Given the description of an element on the screen output the (x, y) to click on. 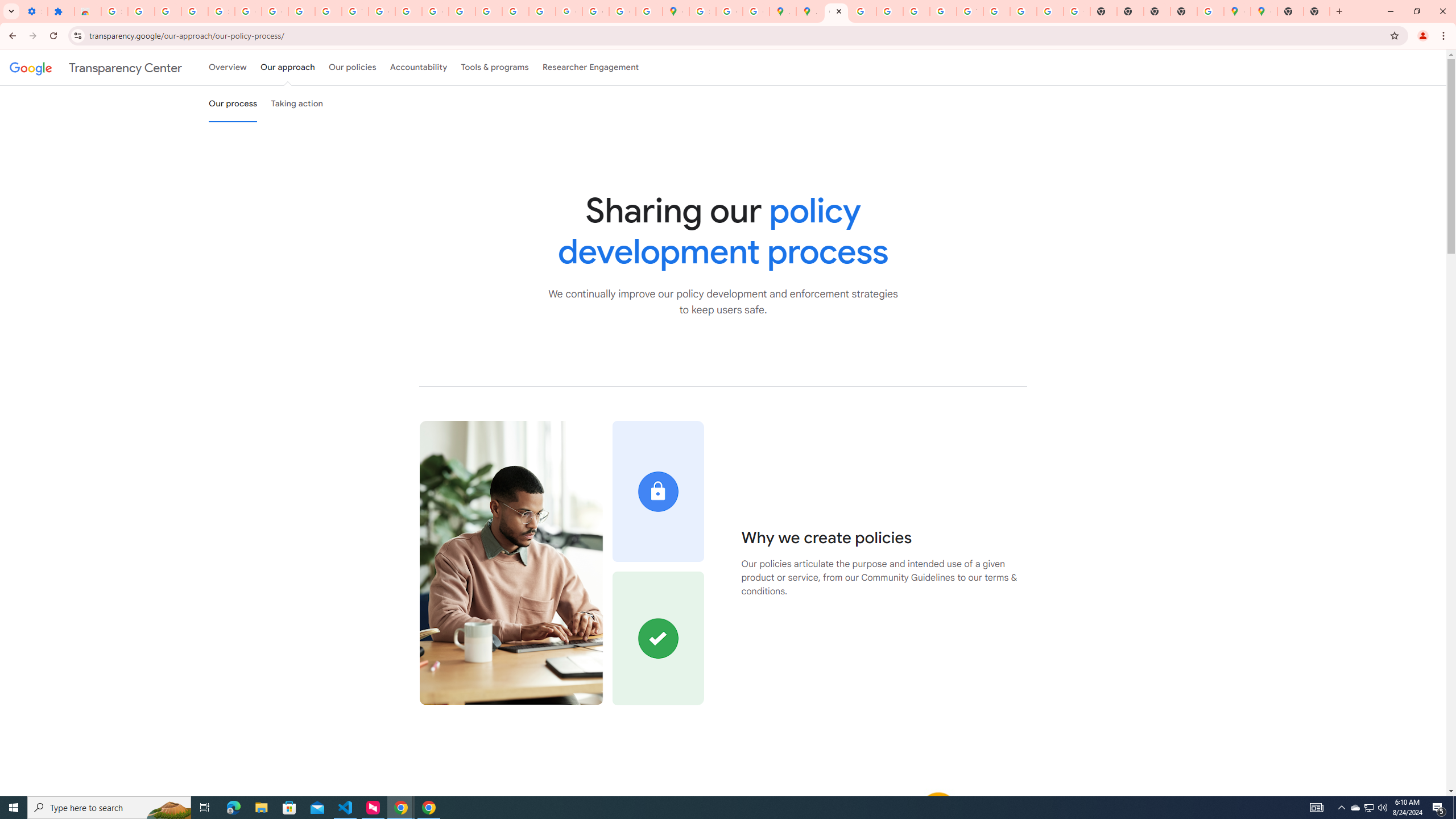
Transparency Center (95, 67)
Researcher Engagement (590, 67)
Google Account Help (248, 11)
YouTube (970, 11)
Taking action (296, 103)
Our process (232, 103)
Sign in - Google Accounts (221, 11)
Our approach (287, 67)
Delete photos & videos - Computer - Google Photos Help (141, 11)
